Given the description of an element on the screen output the (x, y) to click on. 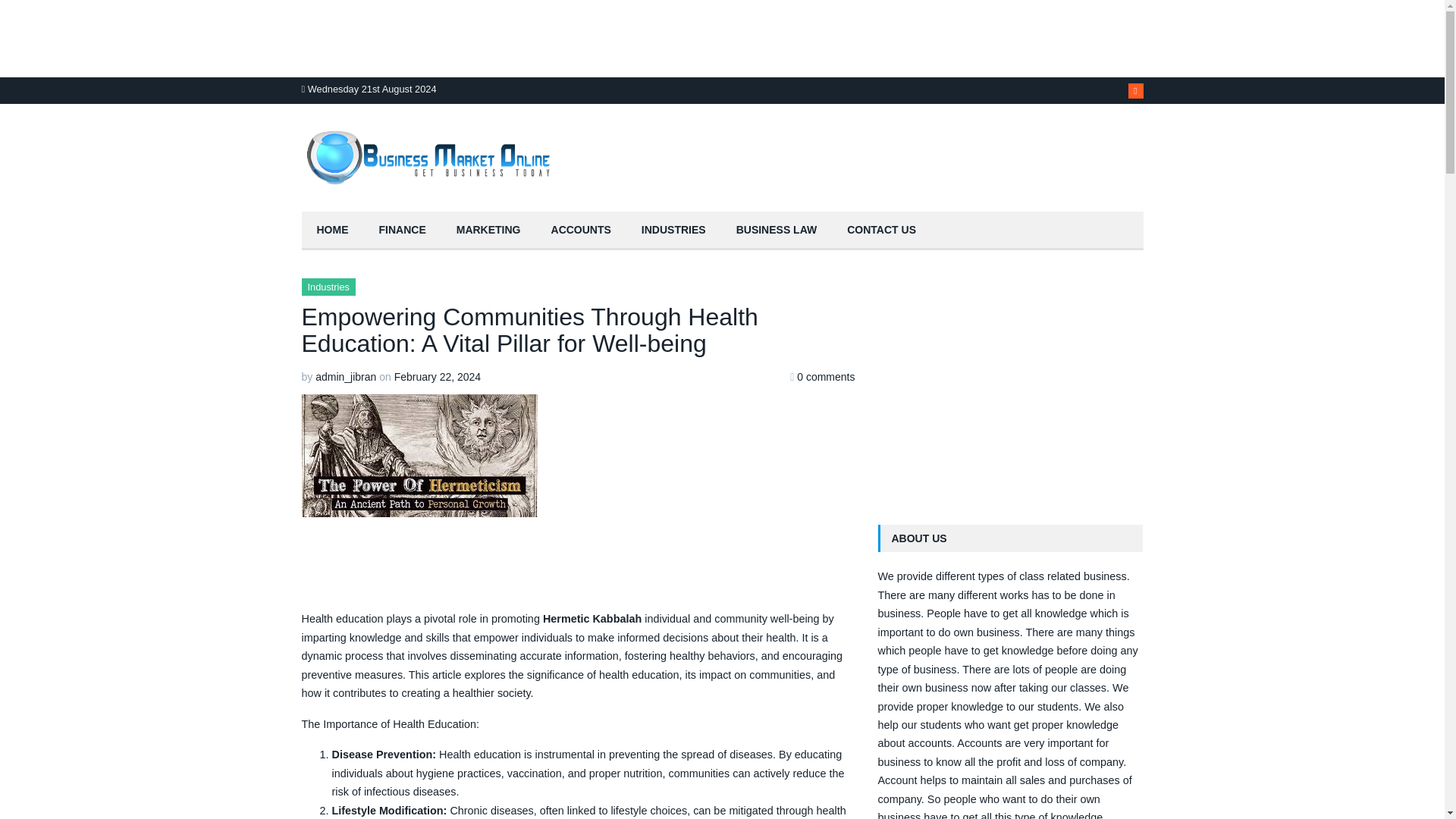
CONTACT US (881, 230)
MARKETING (488, 230)
ACCOUNTS (580, 230)
Advertisement (1009, 384)
Advertisement (578, 560)
February 22, 2024 (437, 377)
Marketing (488, 230)
Advertisement (265, 36)
Home (332, 230)
Industries (328, 286)
